Given the description of an element on the screen output the (x, y) to click on. 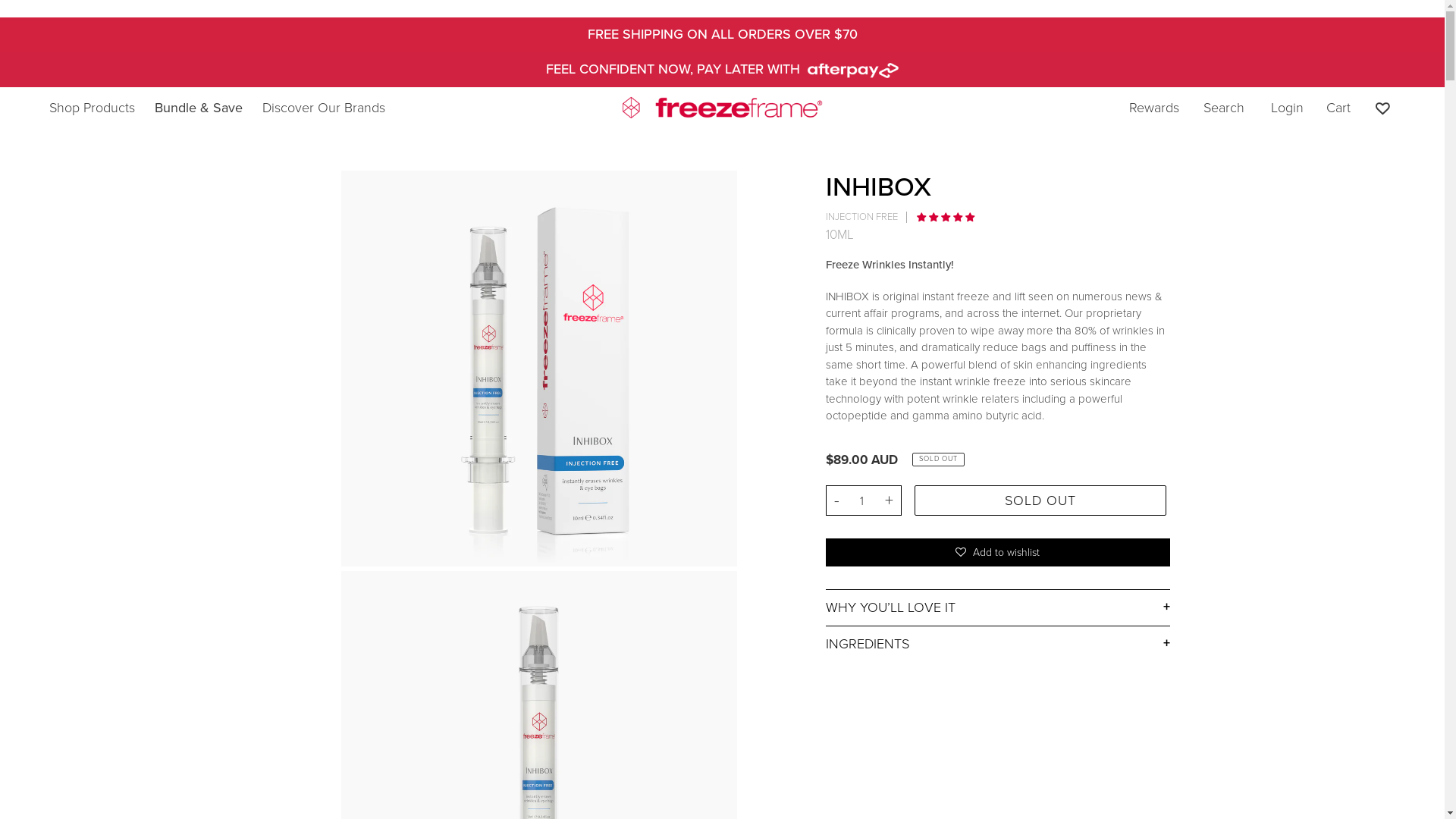
SOLD OUT Element type: text (1040, 500)
Shop Products Element type: text (91, 106)
Search
Search Element type: text (1223, 107)
FREE SHIPPING ON ALL ORDERS OVER $70 Element type: text (722, 33)
Cart
Cart Element type: text (1337, 107)
Bundle & Save Element type: text (198, 107)
FEEL CONFIDENT NOW, PAY LATER WITH Element type: text (722, 68)
Discover Our Brands Element type: text (323, 106)
Rewards Element type: text (1154, 107)
Wishlist Element type: text (1381, 107)
Login
Log in Element type: text (1286, 107)
